Given the description of an element on the screen output the (x, y) to click on. 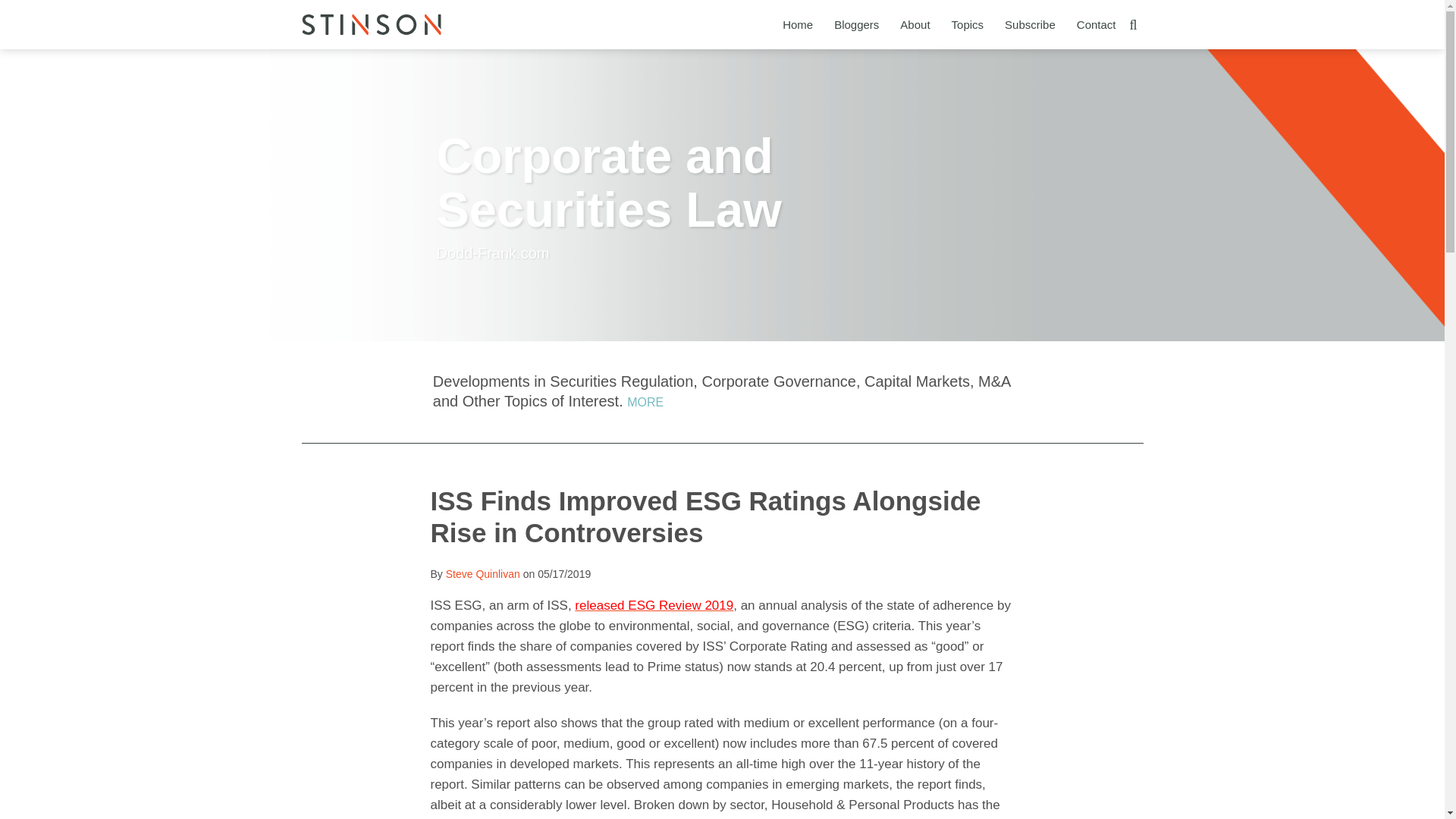
Home (797, 24)
Subscribe (1029, 24)
released ESG Review 2019 (654, 605)
Bloggers (856, 24)
Steve Quinlivan (482, 573)
Topics (968, 24)
MORE (645, 401)
Contact (1096, 24)
About (914, 24)
Corporate and Securities Law (608, 182)
